Given the description of an element on the screen output the (x, y) to click on. 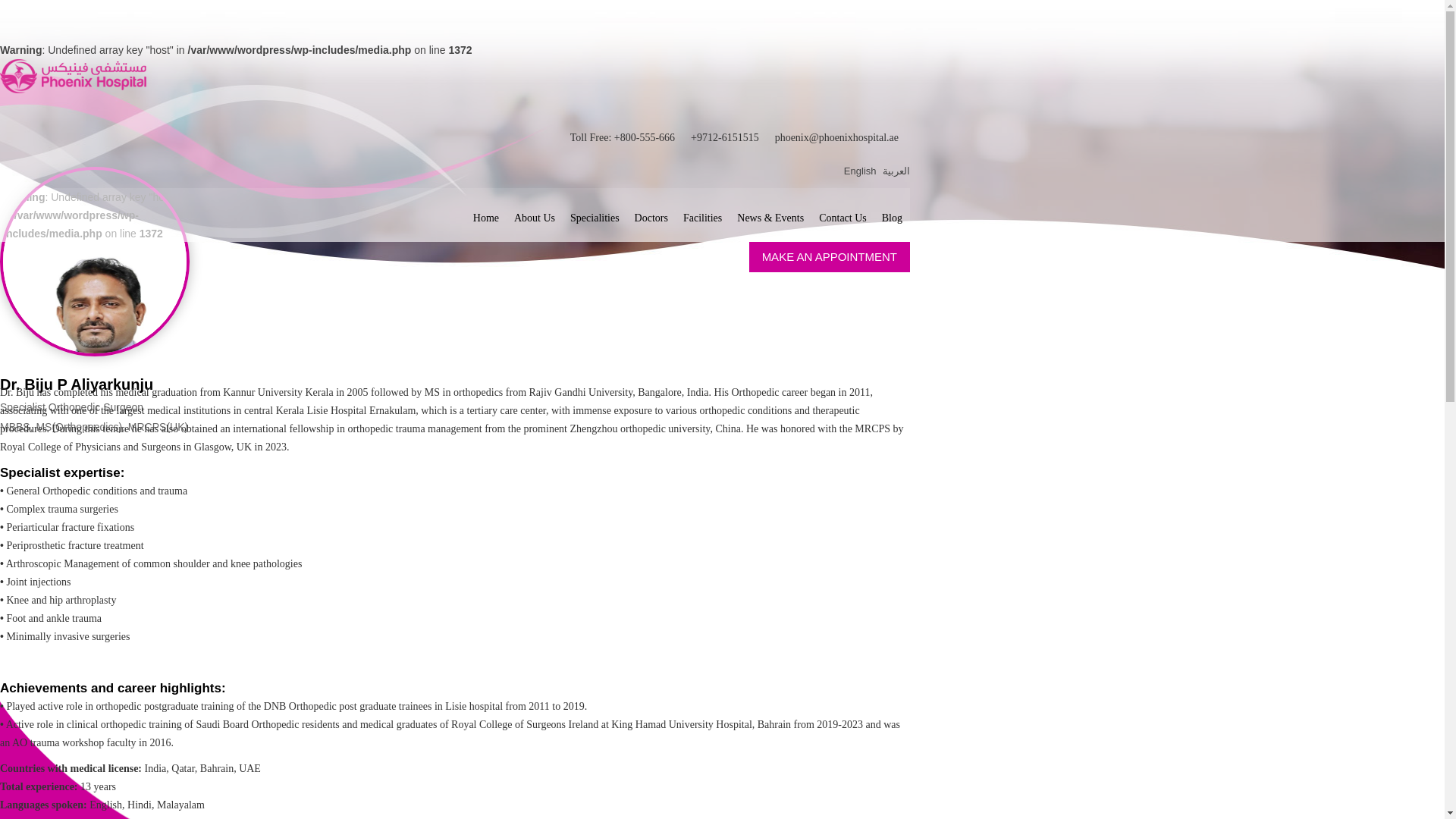
MAKE AN APPOINTMENT (829, 256)
Facilities (702, 217)
Contact Us (842, 217)
About Us (534, 217)
Specialities (594, 217)
English (860, 170)
Doctors (651, 217)
